Given the description of an element on the screen output the (x, y) to click on. 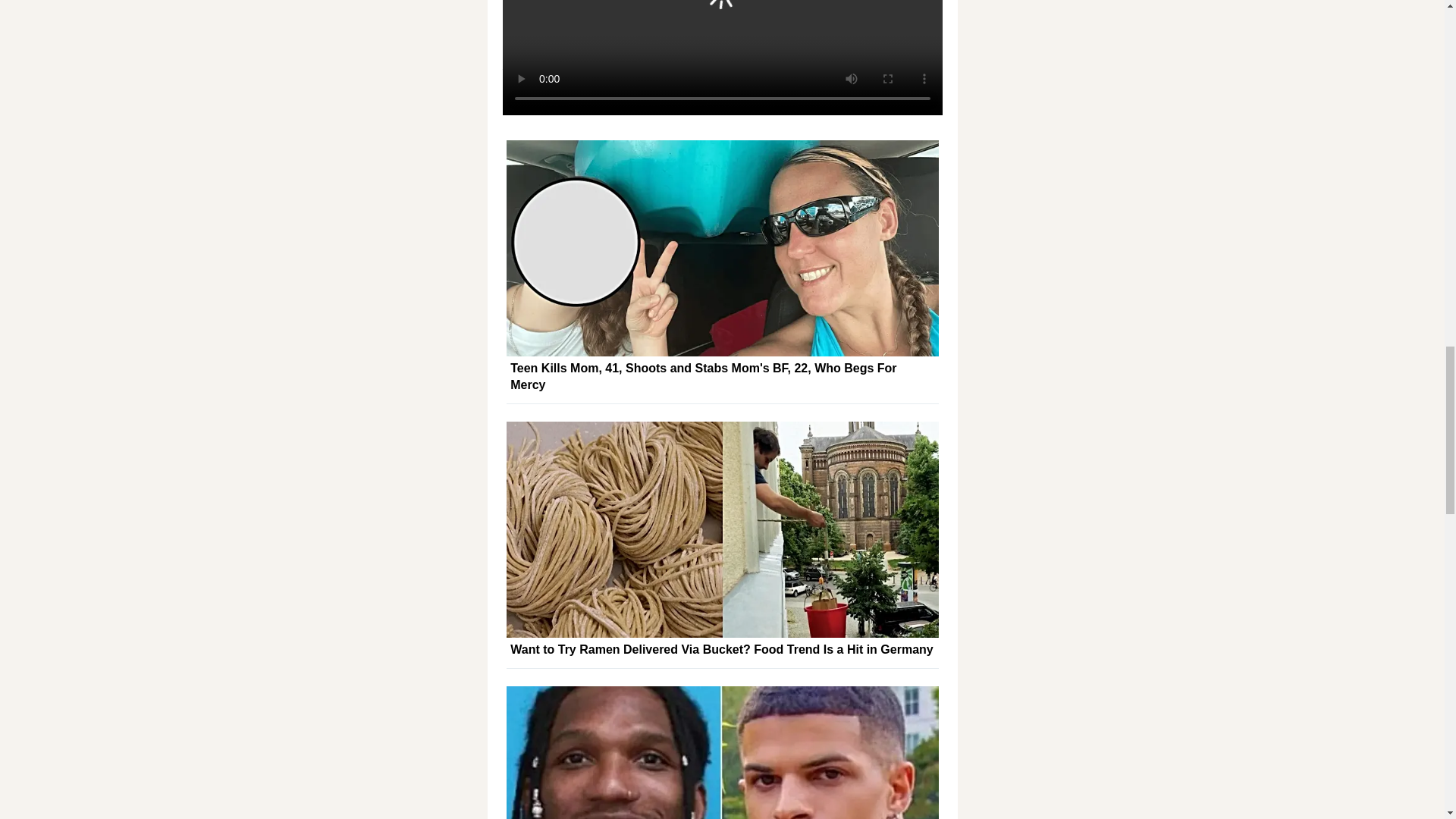
OFFBEAT (722, 46)
Coronavirus (657, 73)
cosmetic (576, 73)
Plastic surgery (755, 73)
